Given the description of an element on the screen output the (x, y) to click on. 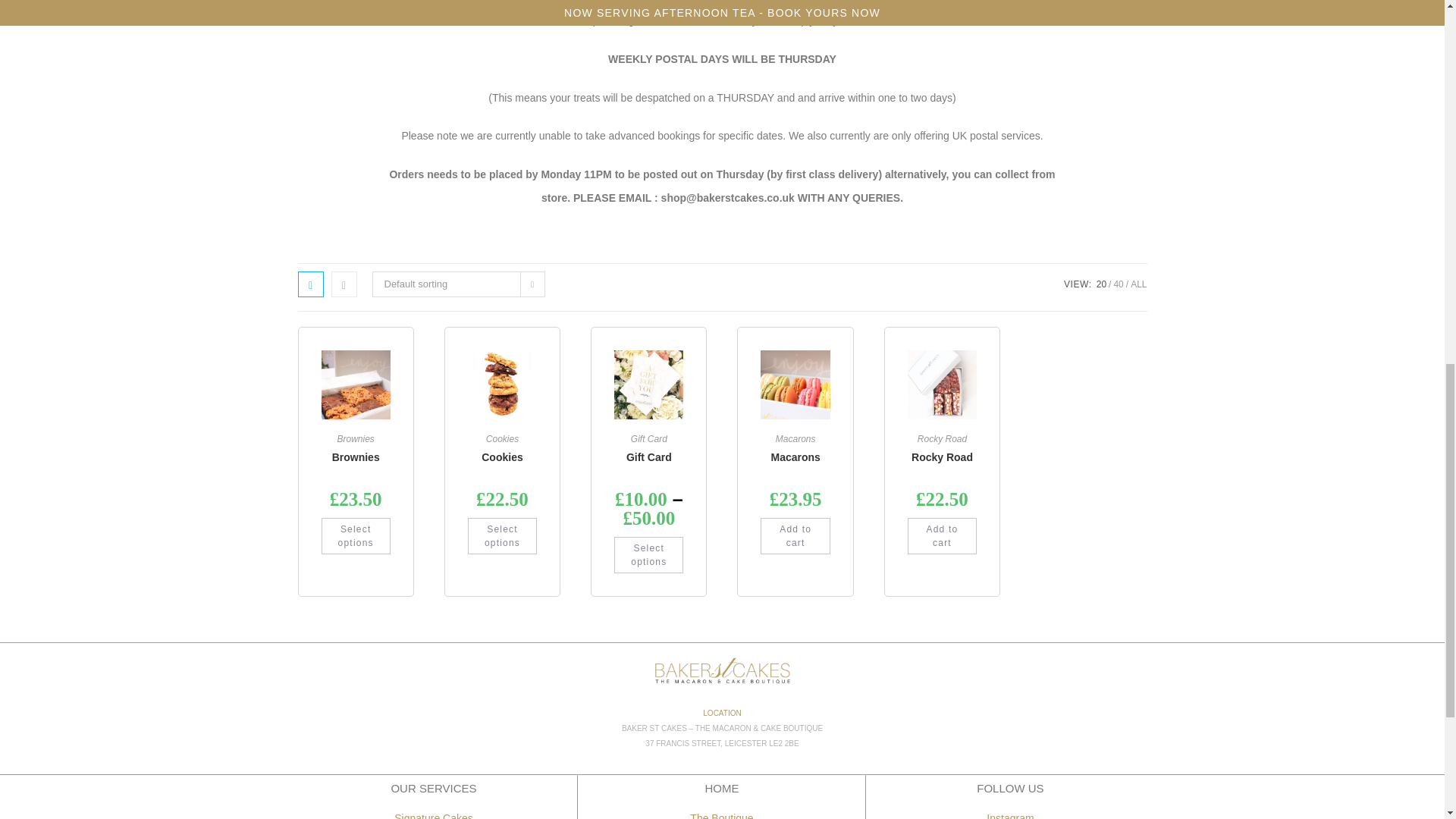
Select options (648, 555)
Add to cart (794, 535)
Cookies (502, 439)
Macarons (794, 457)
20 (1101, 284)
Macarons (795, 439)
Grid view (310, 284)
Select options (355, 535)
Gift Card (648, 457)
ALL (1139, 284)
Select options (502, 535)
Cookies (501, 457)
Brownies (355, 457)
List view (343, 284)
40 (1117, 284)
